Given the description of an element on the screen output the (x, y) to click on. 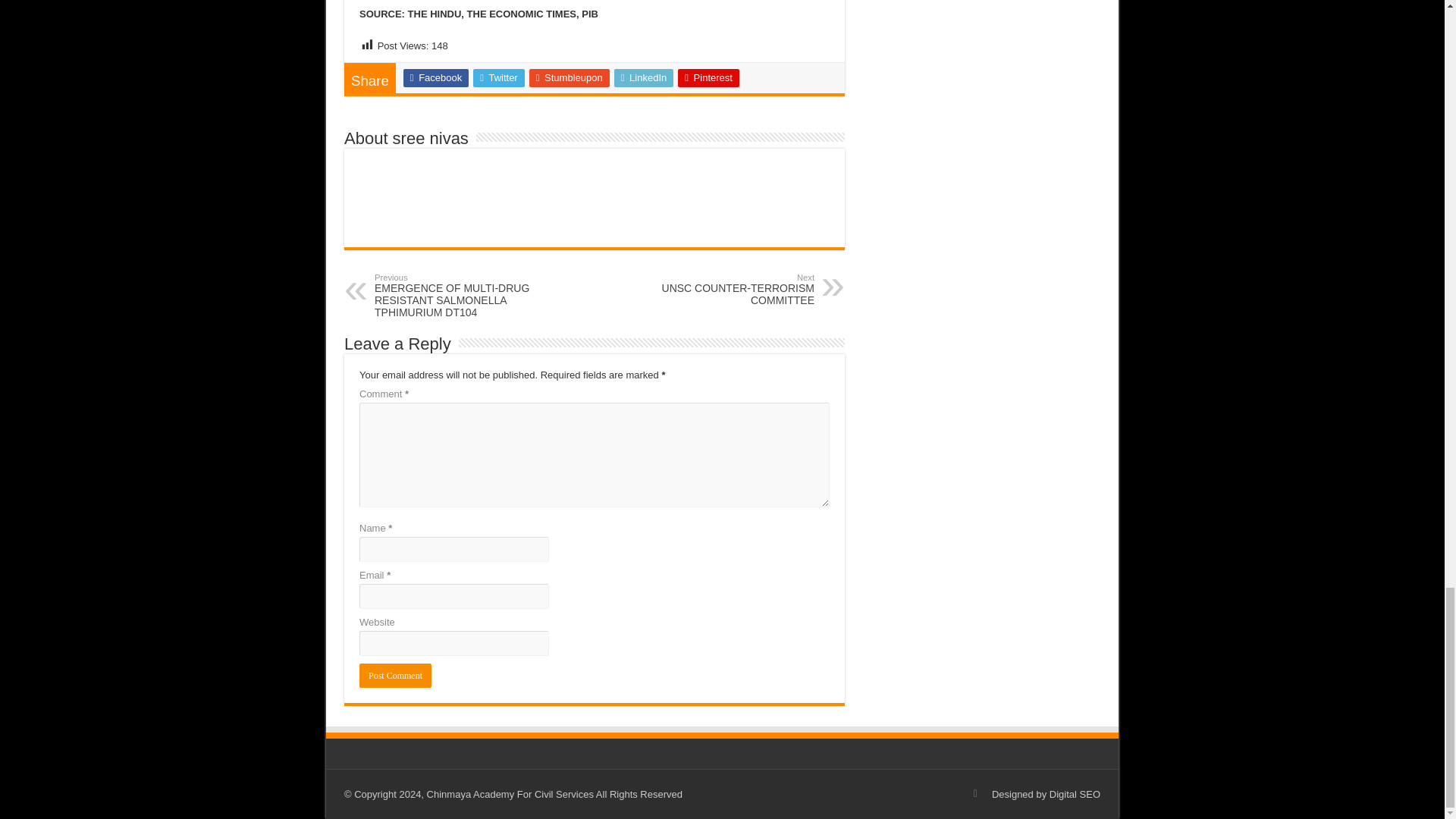
Post Comment (394, 675)
